Given the description of an element on the screen output the (x, y) to click on. 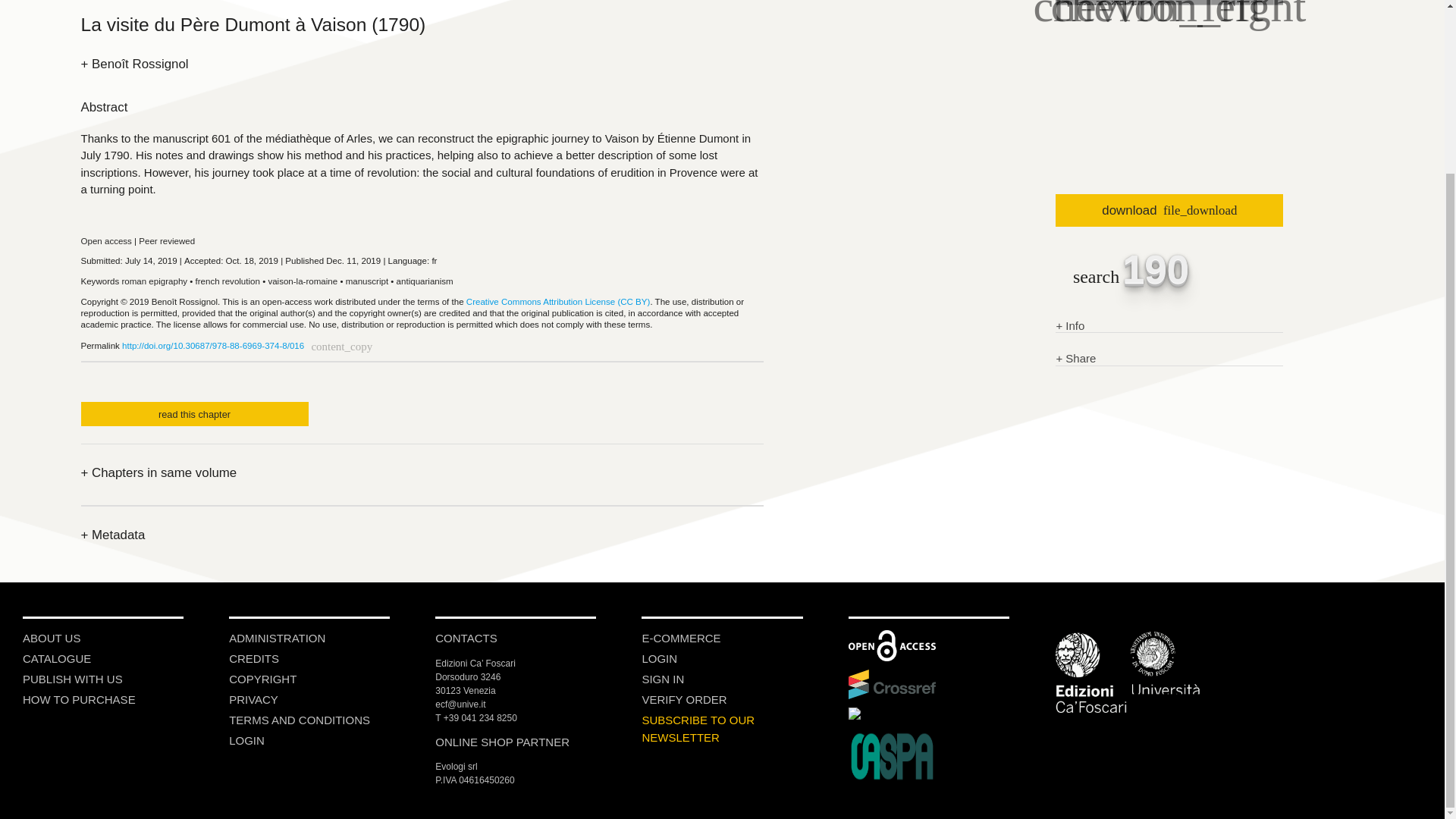
roman epigraphy (153, 280)
vaison-la-romaine (302, 280)
Open access (105, 240)
manuscript (367, 280)
antiquarianism (424, 280)
read this chapter (193, 413)
french revolution (227, 280)
Peer reviewed (166, 240)
